Given the description of an element on the screen output the (x, y) to click on. 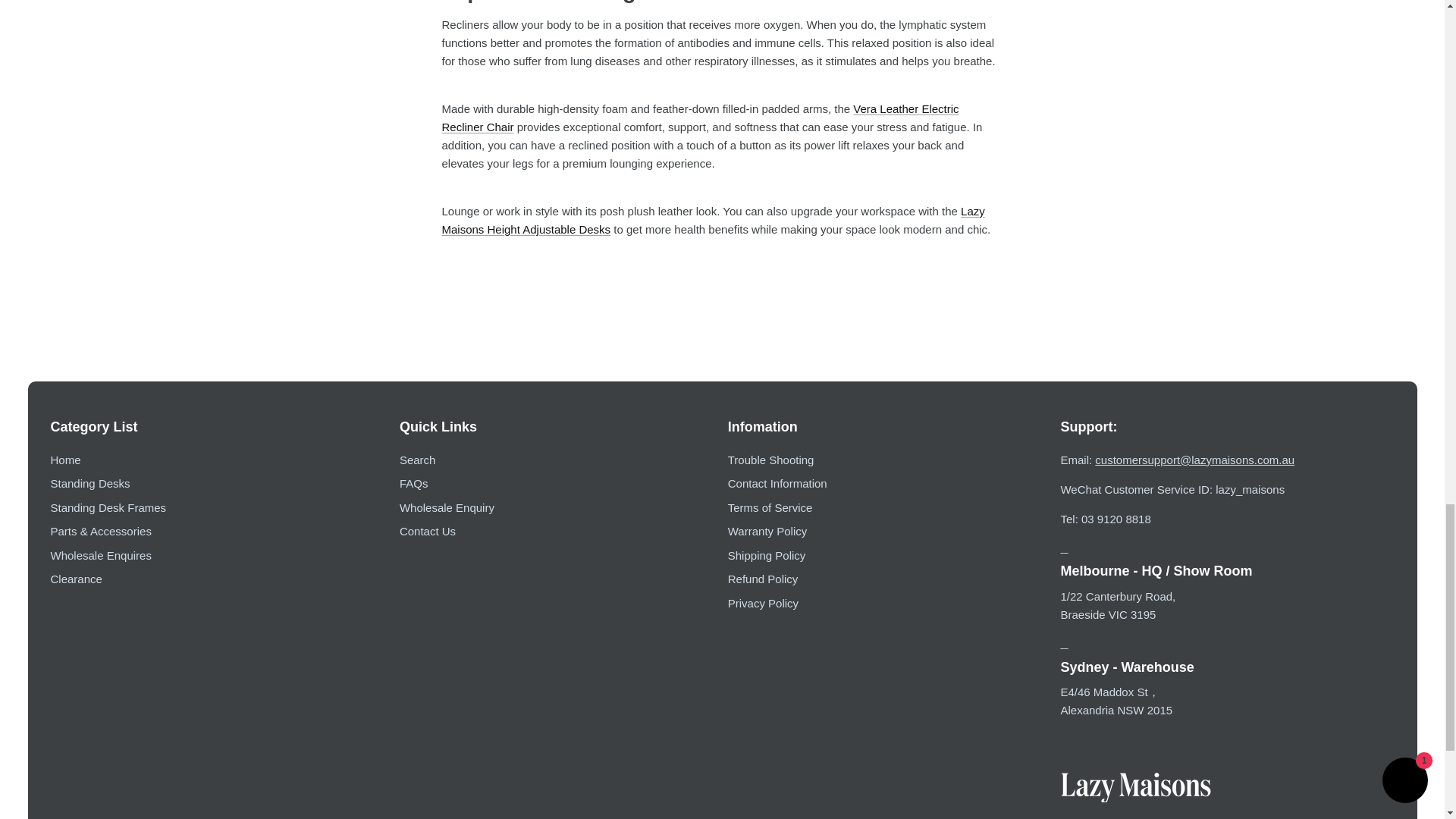
vera recliner chair (699, 117)
